Given the description of an element on the screen output the (x, y) to click on. 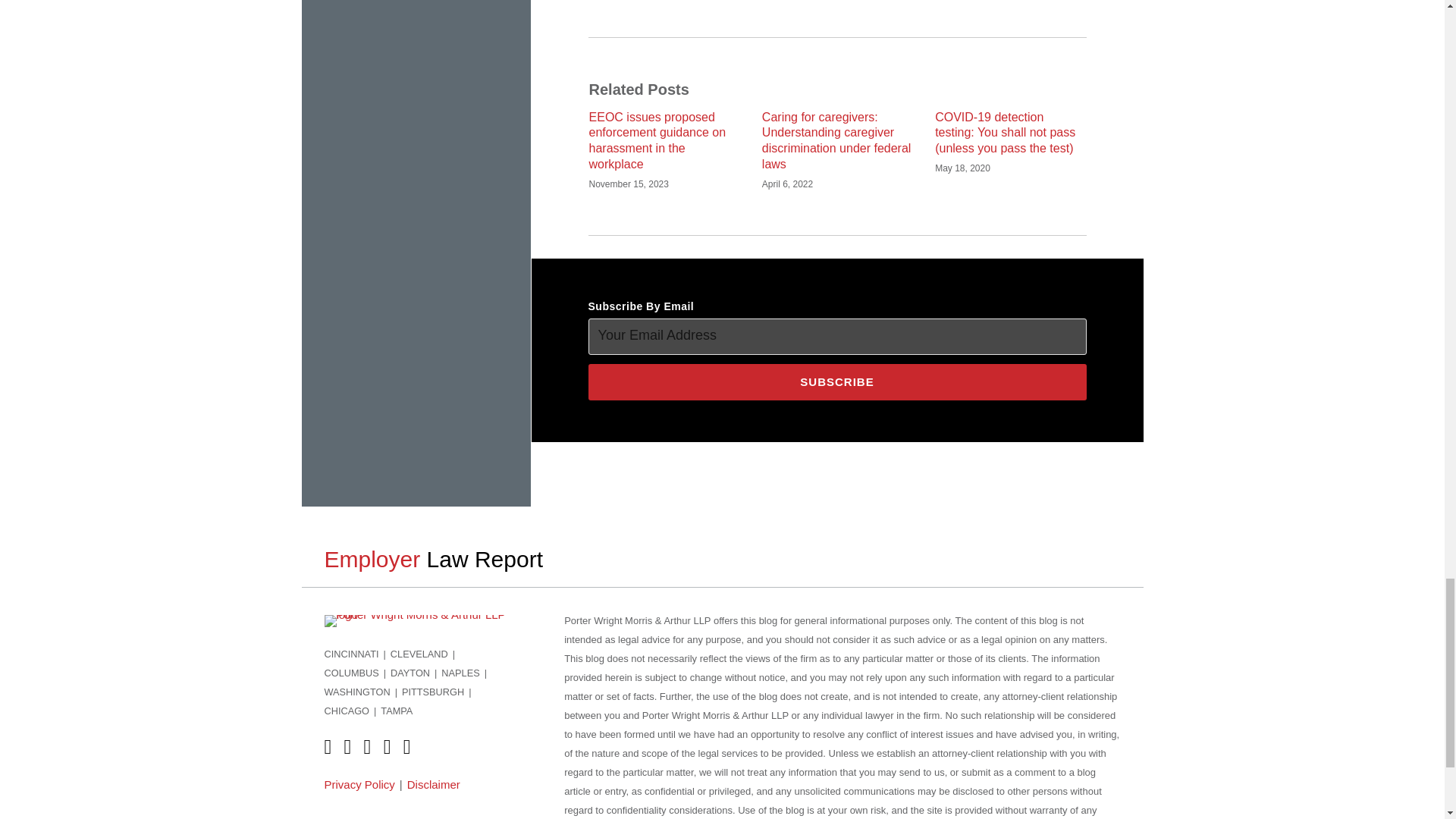
Subscribe (837, 381)
Subscribe (837, 381)
